Given the description of an element on the screen output the (x, y) to click on. 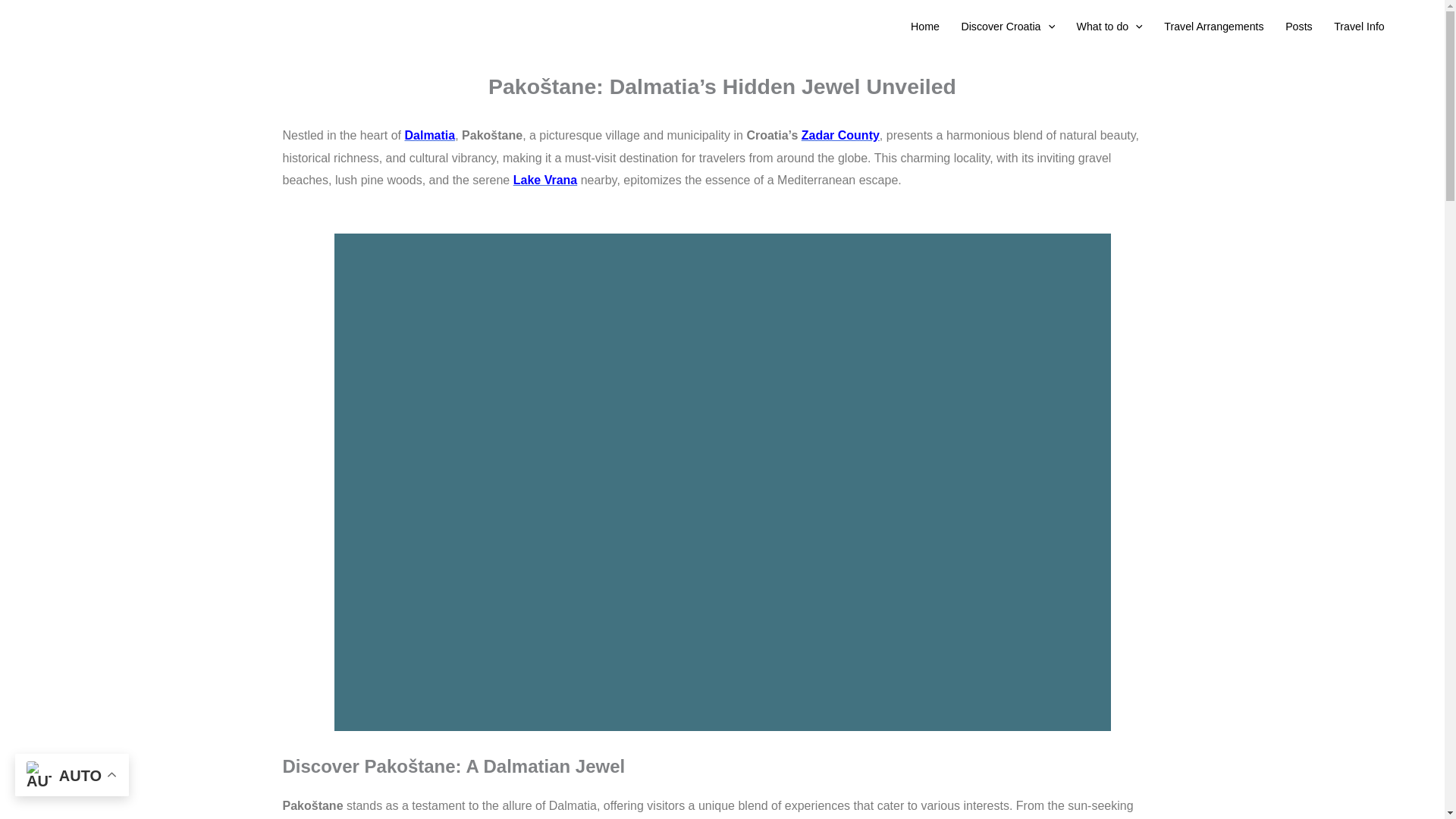
Zadar County (840, 134)
Discover Croatia (1007, 26)
What to do (1109, 26)
Dalmatia (429, 134)
Home (924, 26)
Explore Zadar County: A Dalmatian Delight (840, 134)
Lake Vrana (545, 179)
Posts (1299, 26)
Travel Info (1358, 26)
Travel Arrangements (1214, 26)
